Given the description of an element on the screen output the (x, y) to click on. 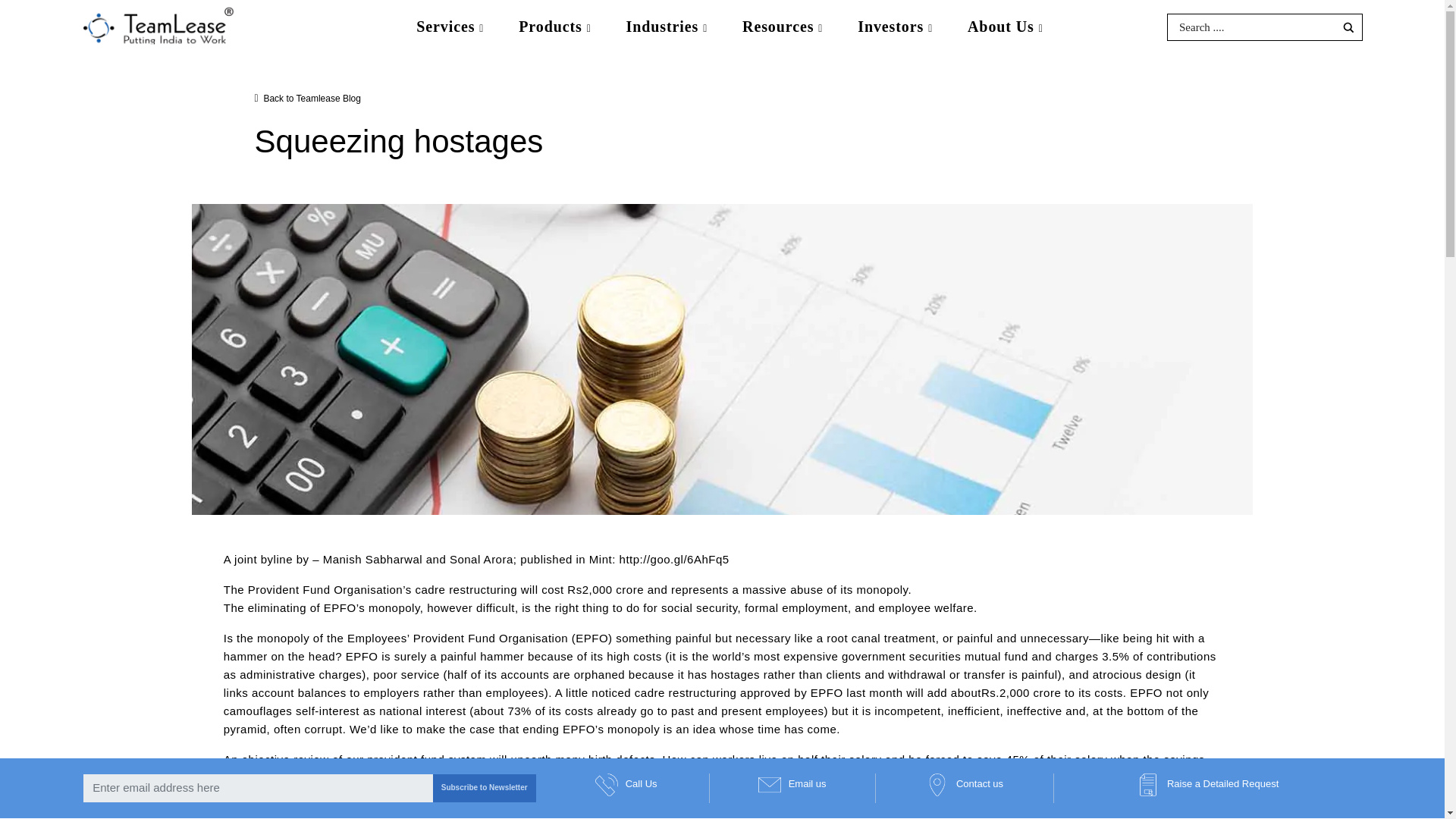
Services (449, 26)
Investors (894, 26)
Resources (782, 26)
Products (554, 26)
Industries (666, 26)
